Given the description of an element on the screen output the (x, y) to click on. 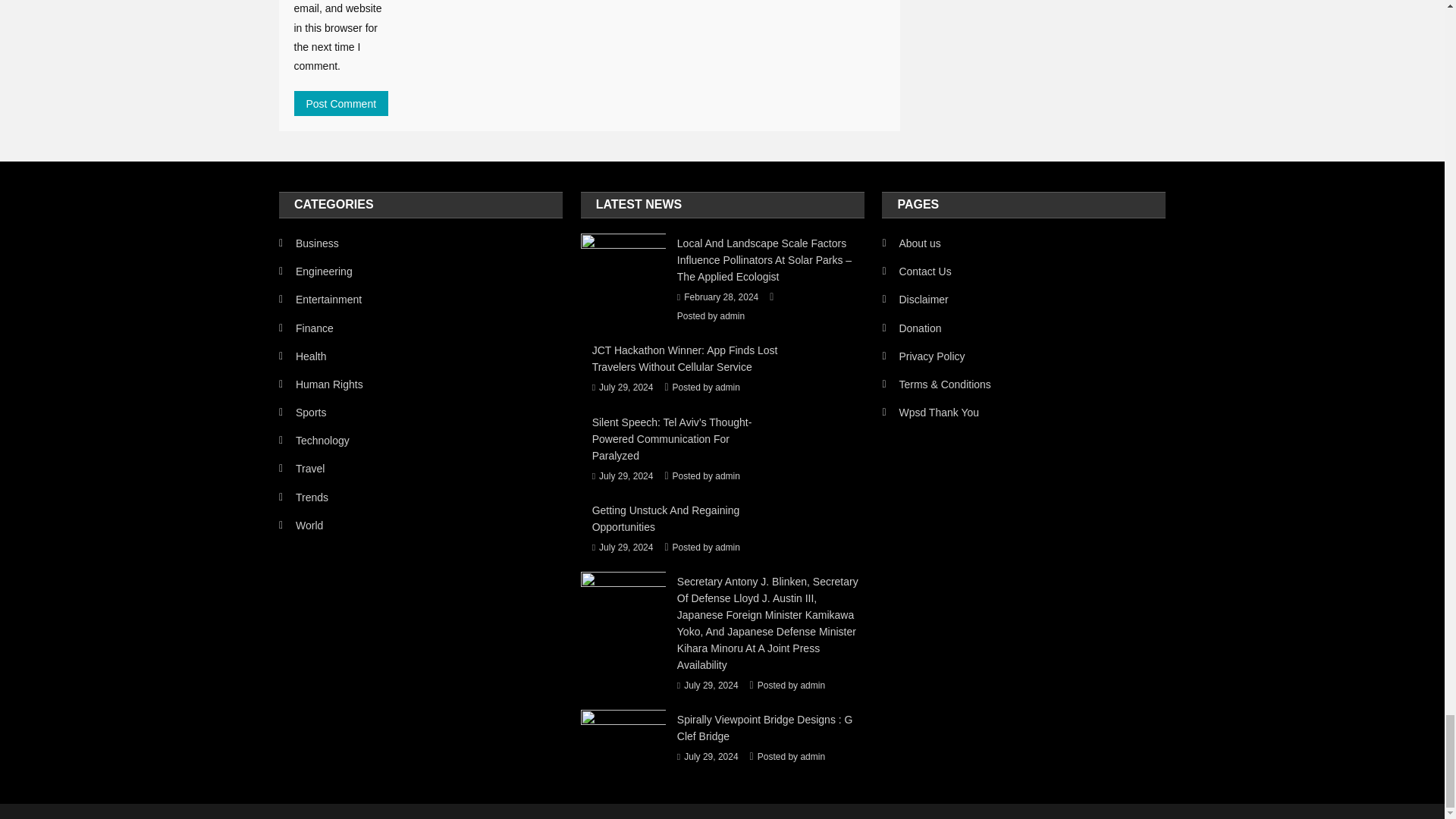
Post Comment (341, 103)
